Given the description of an element on the screen output the (x, y) to click on. 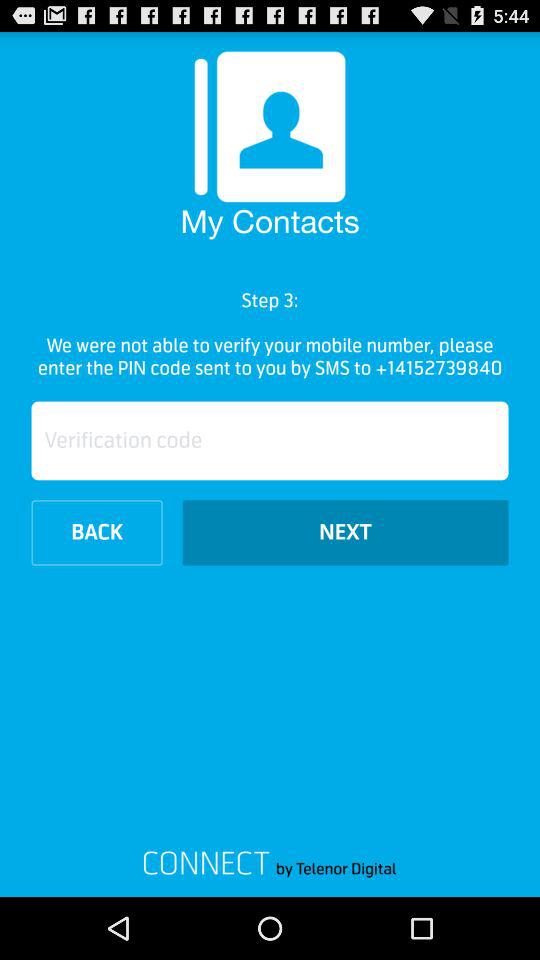
enter the verification code here (269, 440)
